Given the description of an element on the screen output the (x, y) to click on. 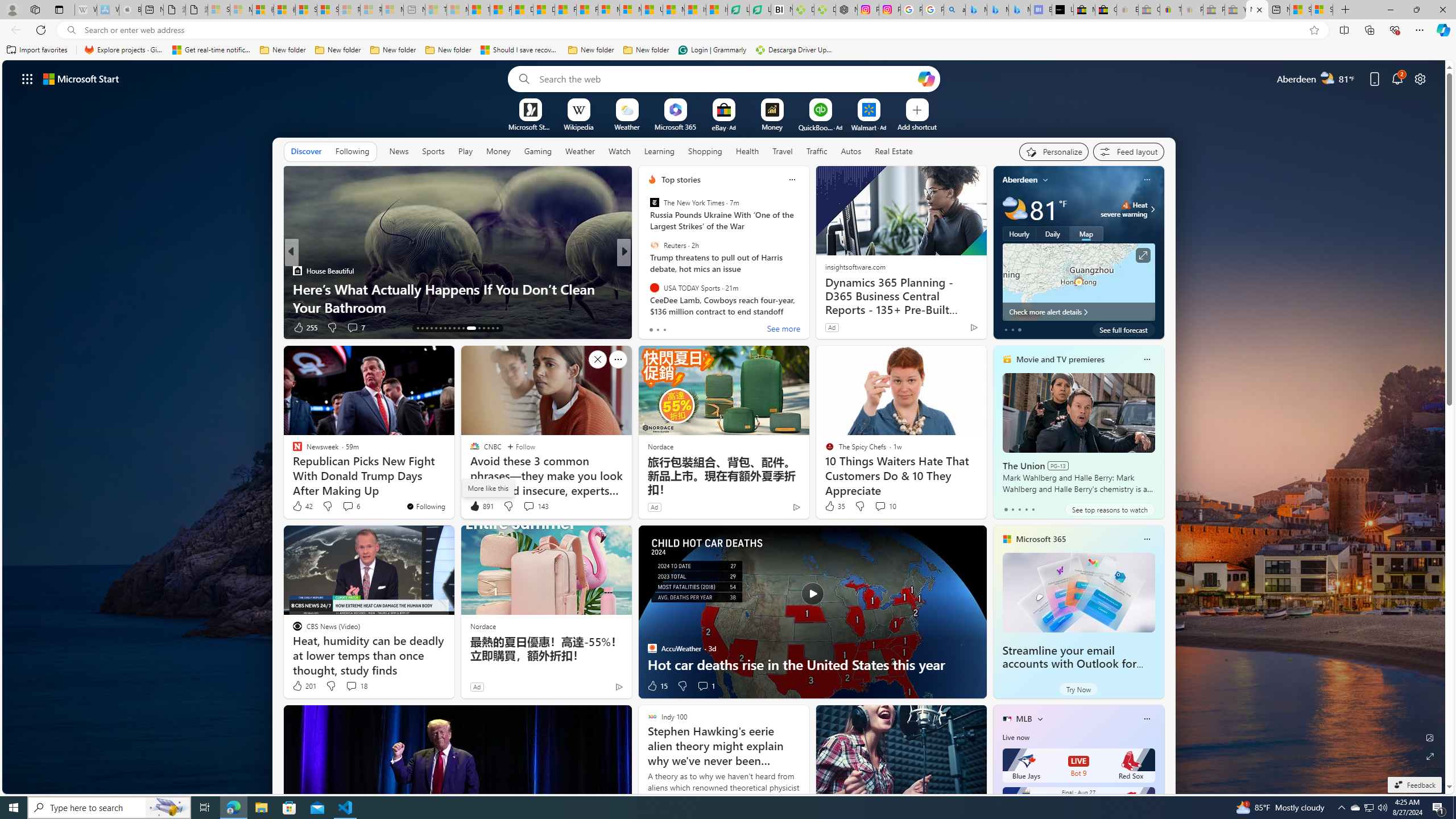
42 Like (301, 505)
Top Stories - MSN - Sleeping (435, 9)
You're following Newsweek (425, 505)
Partly cloudy (1014, 208)
Edit Background (1430, 737)
